Given the description of an element on the screen output the (x, y) to click on. 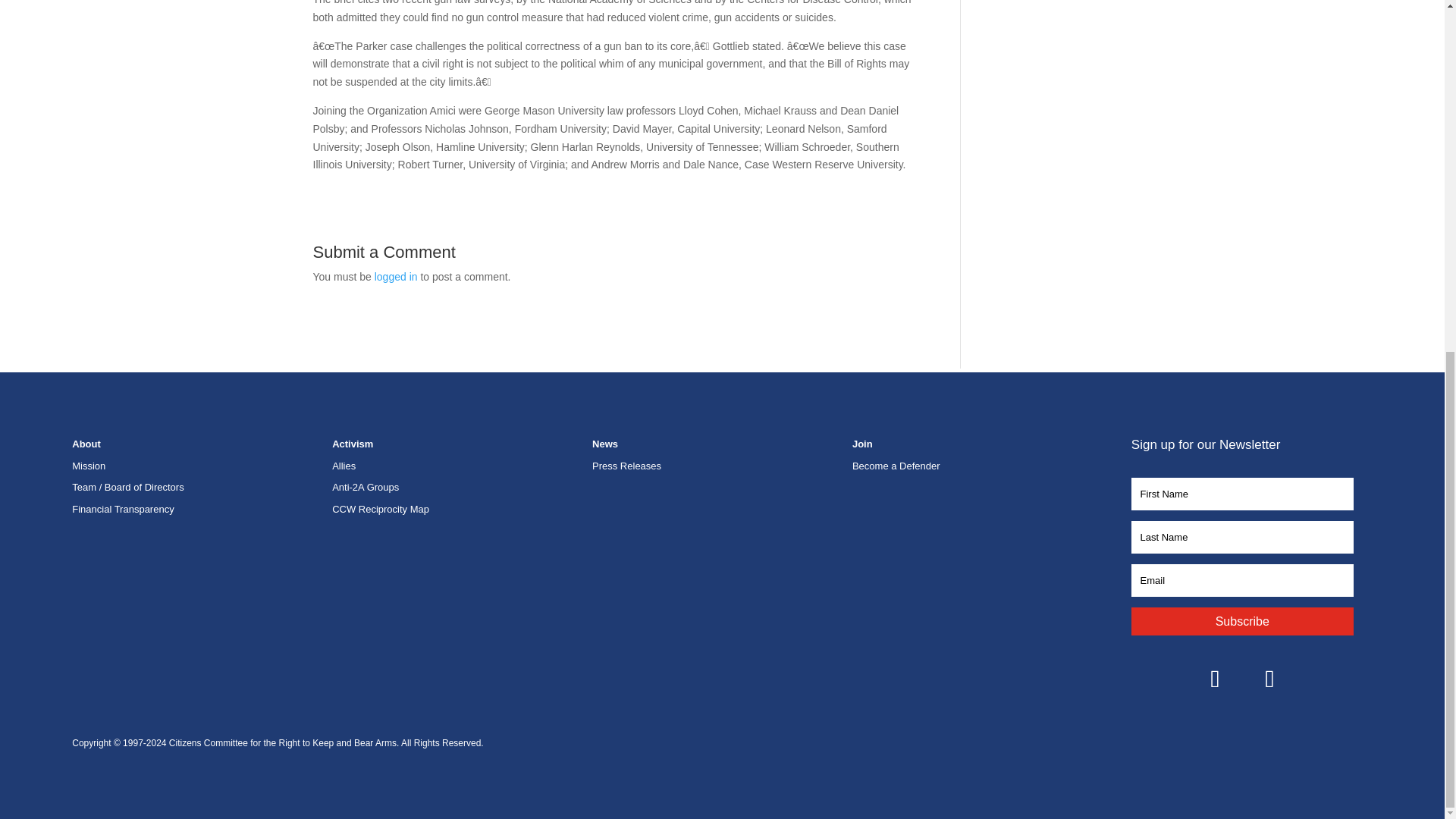
logged in (395, 276)
Follow on X (1269, 678)
Follow on Facebook (1215, 678)
